Given the description of an element on the screen output the (x, y) to click on. 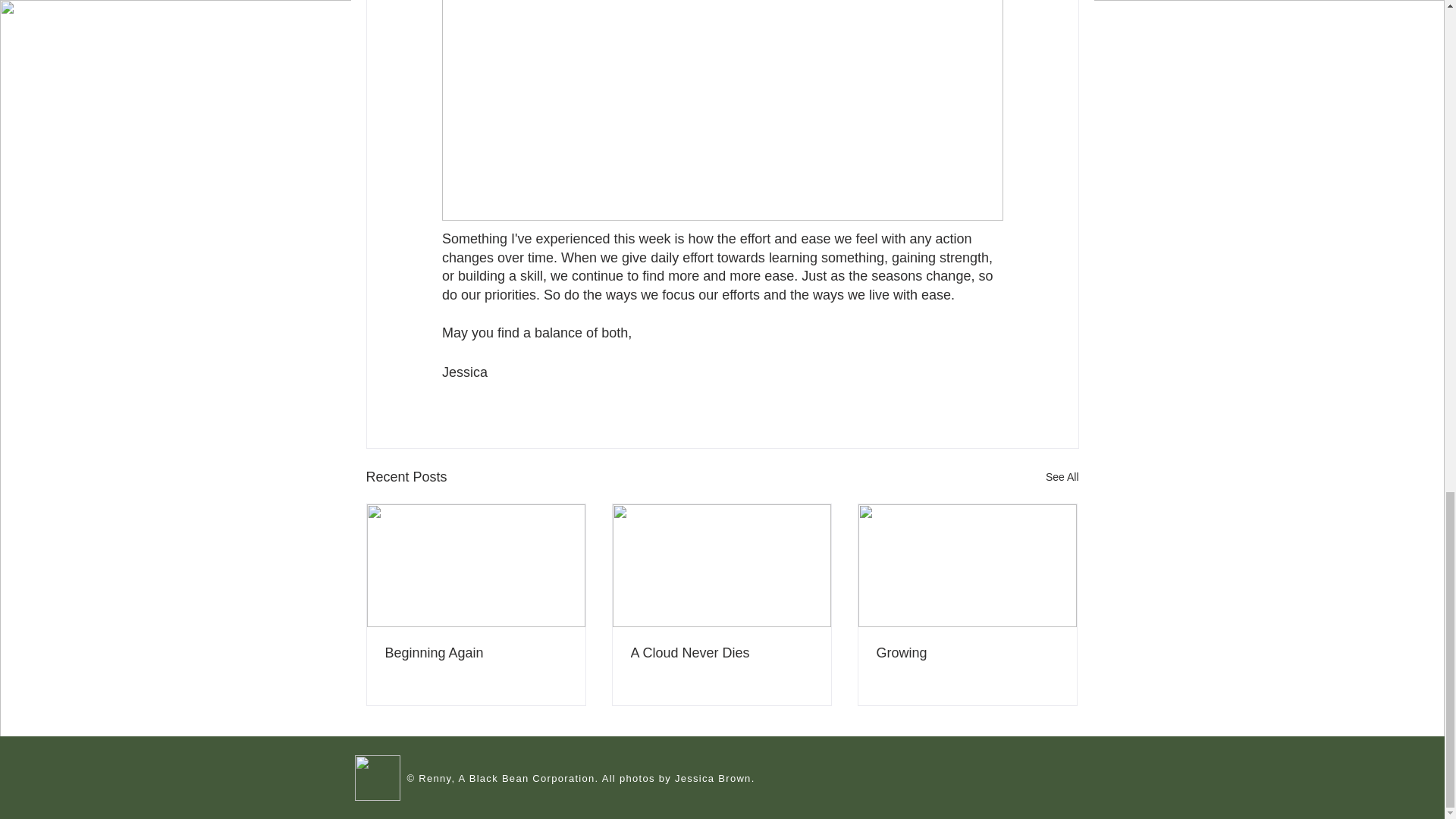
See All (1061, 477)
Growing (967, 652)
A Cloud Never Dies (721, 652)
Beginning Again (476, 652)
